Given the description of an element on the screen output the (x, y) to click on. 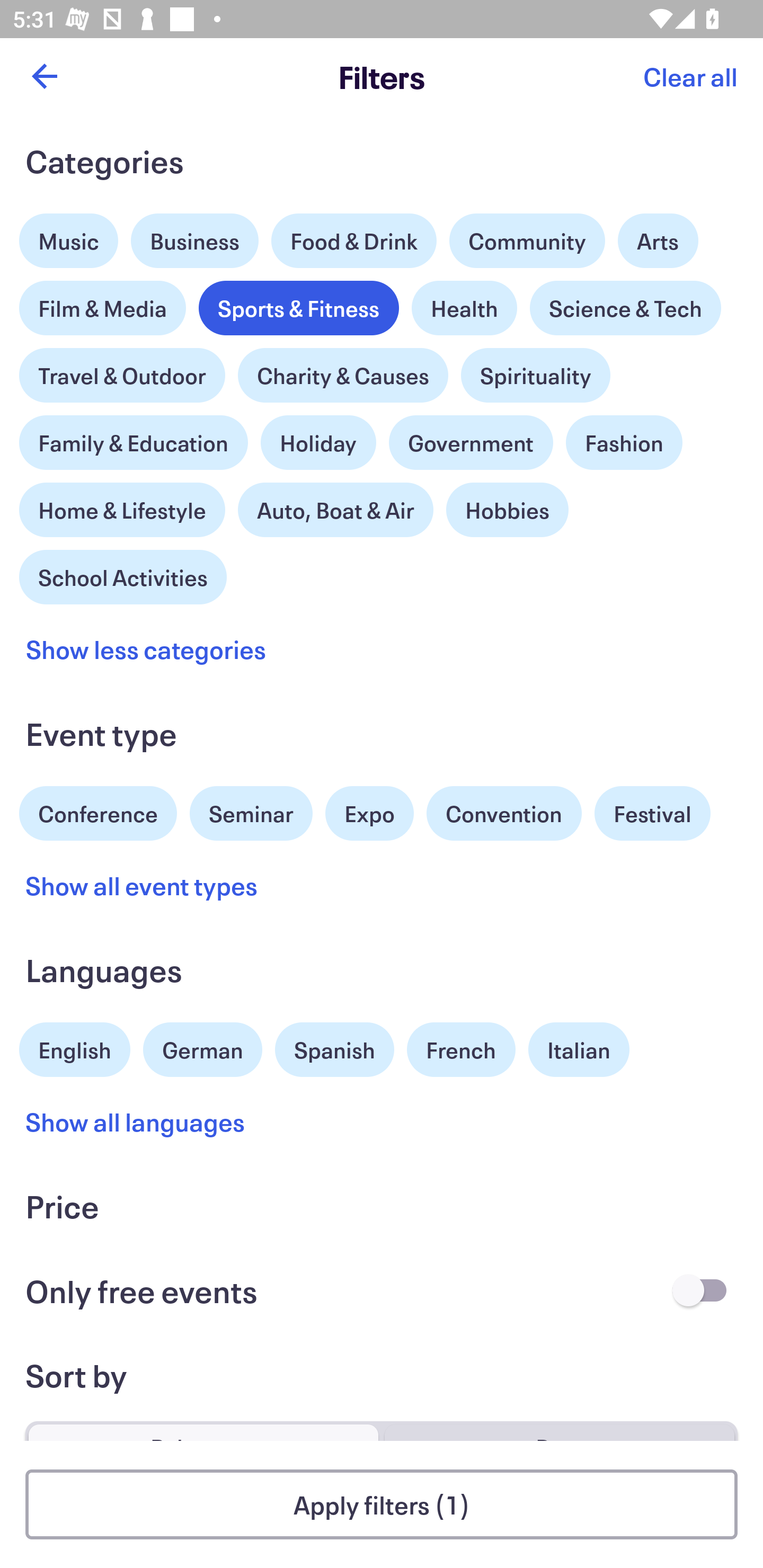
Back button (44, 75)
Clear all (690, 75)
Music (68, 235)
Business (194, 240)
Food & Drink (353, 240)
Community (527, 240)
Arts (658, 235)
Film & Media (102, 303)
Sports & Fitness (298, 307)
Health (464, 307)
Science & Tech (625, 307)
Travel & Outdoor (122, 370)
Charity & Causes (343, 375)
Spirituality (535, 375)
Family & Education (133, 442)
Holiday (318, 437)
Government (471, 442)
Fashion (624, 442)
Home & Lifestyle (122, 505)
Auto, Boat & Air (335, 509)
Hobbies (507, 509)
School Activities (122, 575)
Show less categories (145, 648)
Conference (98, 811)
Seminar (250, 813)
Expo (369, 813)
Convention (503, 813)
Festival (652, 813)
Show all event types (141, 884)
English (74, 1047)
German (202, 1047)
Spanish (334, 1049)
French (460, 1049)
Italian (578, 1049)
Show all languages (135, 1121)
Apply filters (1) (381, 1504)
